Given the description of an element on the screen output the (x, y) to click on. 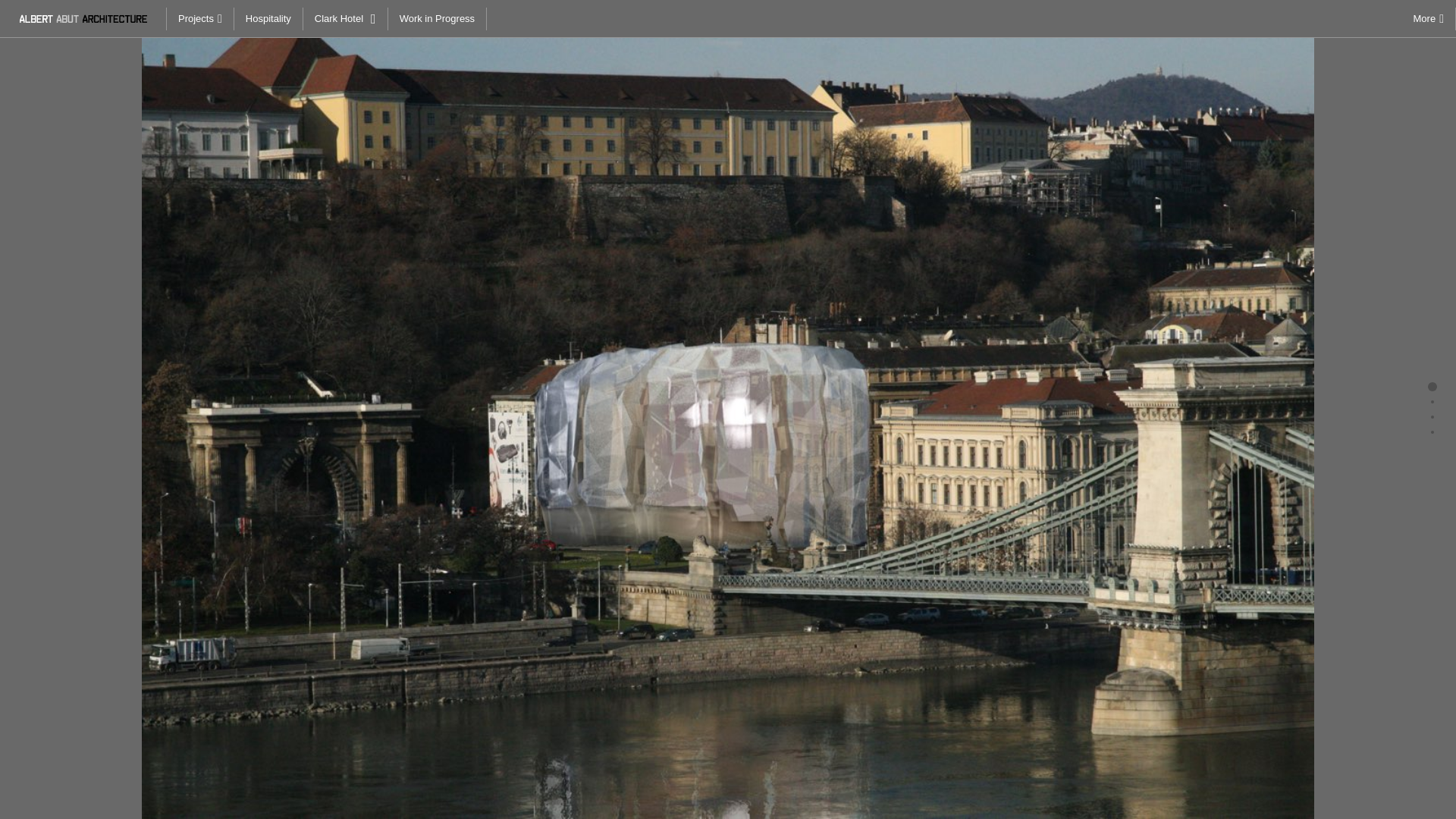
Hospitality (268, 18)
Work in Progress (436, 18)
